Given the description of an element on the screen output the (x, y) to click on. 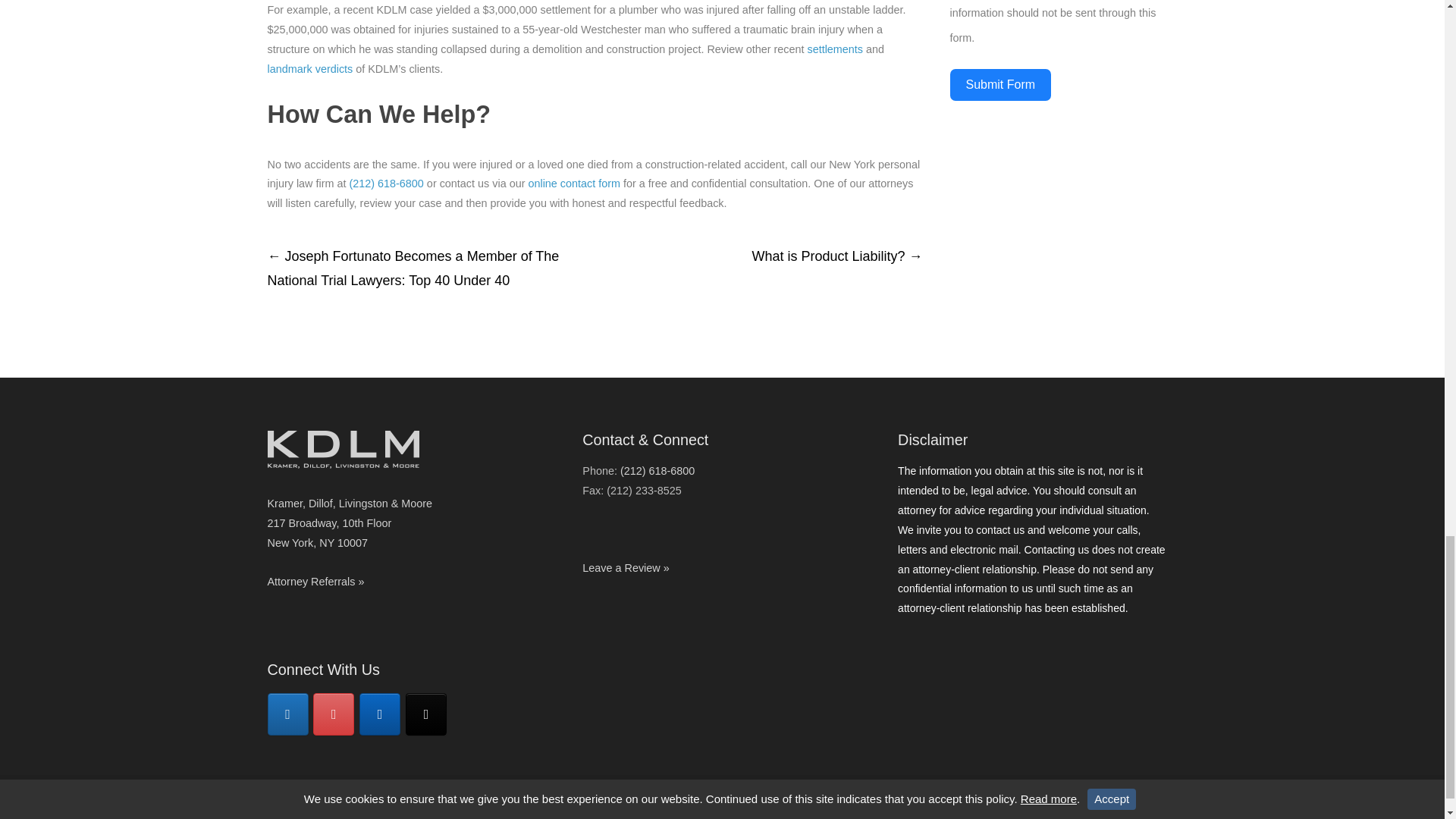
Linkedin (379, 713)
KDLM on X Twitter (426, 713)
Facebook (286, 713)
KDLM on Instagram (333, 713)
